Given the description of an element on the screen output the (x, y) to click on. 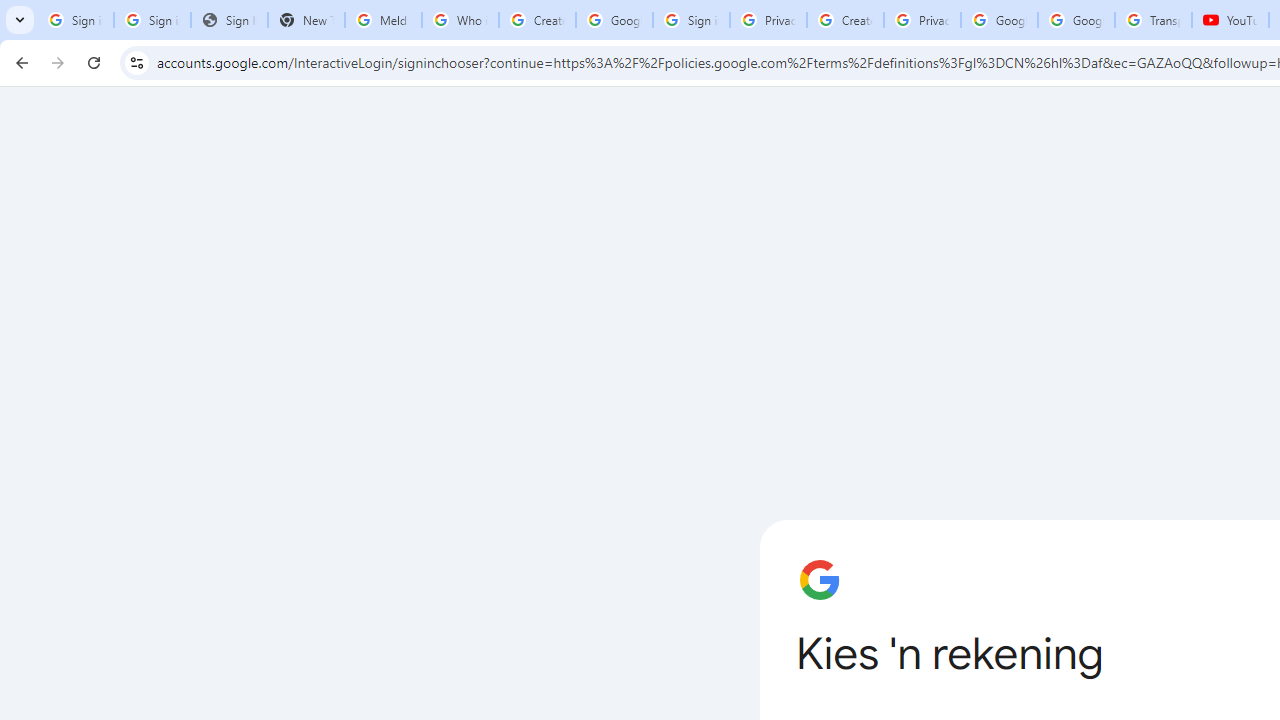
Sign in - Google Accounts (690, 20)
Who is my administrator? - Google Account Help (460, 20)
New Tab (306, 20)
Create your Google Account (845, 20)
Sign in - Google Accounts (75, 20)
YouTube (1229, 20)
